Given the description of an element on the screen output the (x, y) to click on. 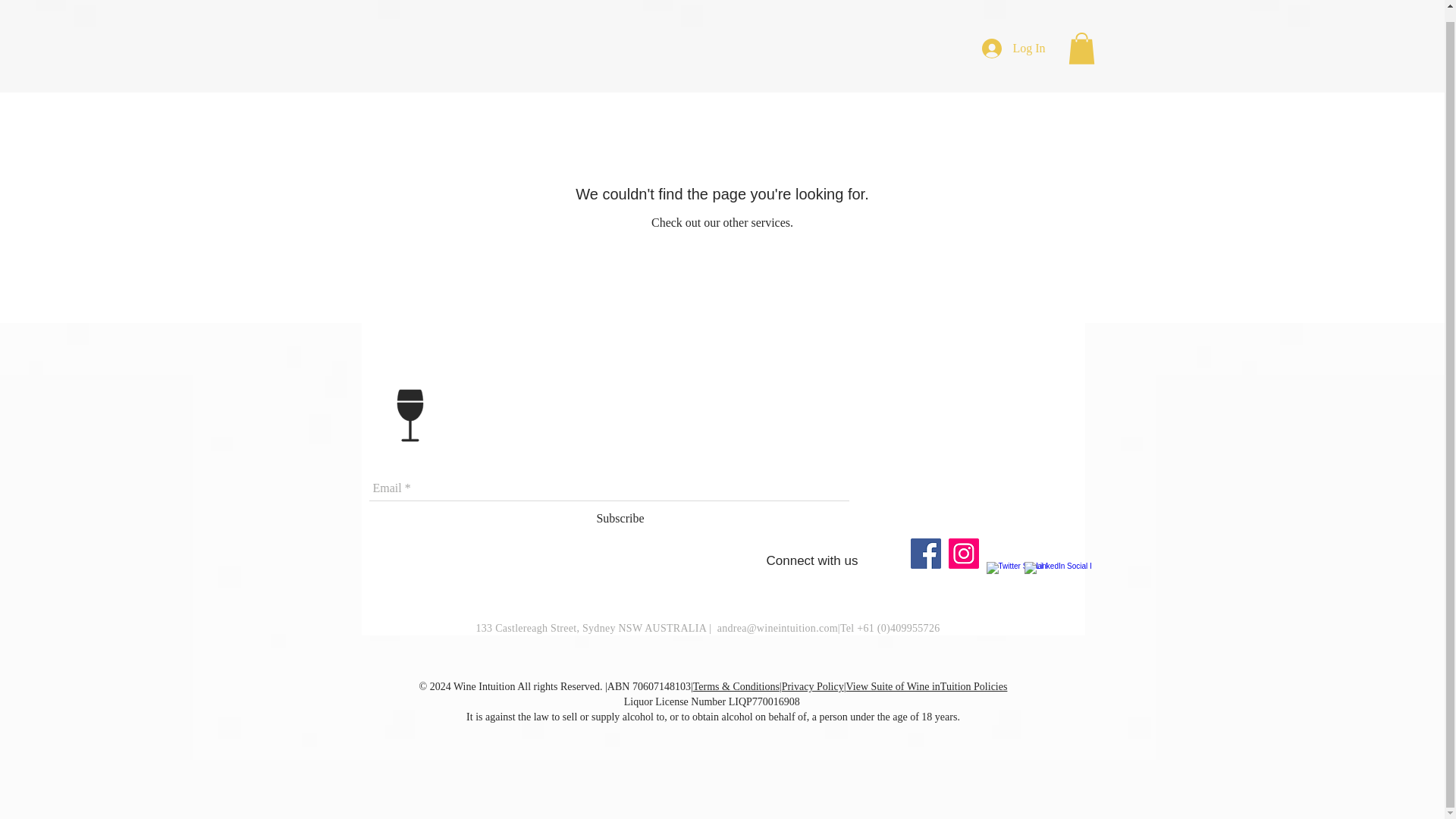
Privacy Policy (812, 686)
View Suite of Wine inTuition Policies (926, 686)
Subscribe (619, 518)
Log In (1013, 36)
